Given the description of an element on the screen output the (x, y) to click on. 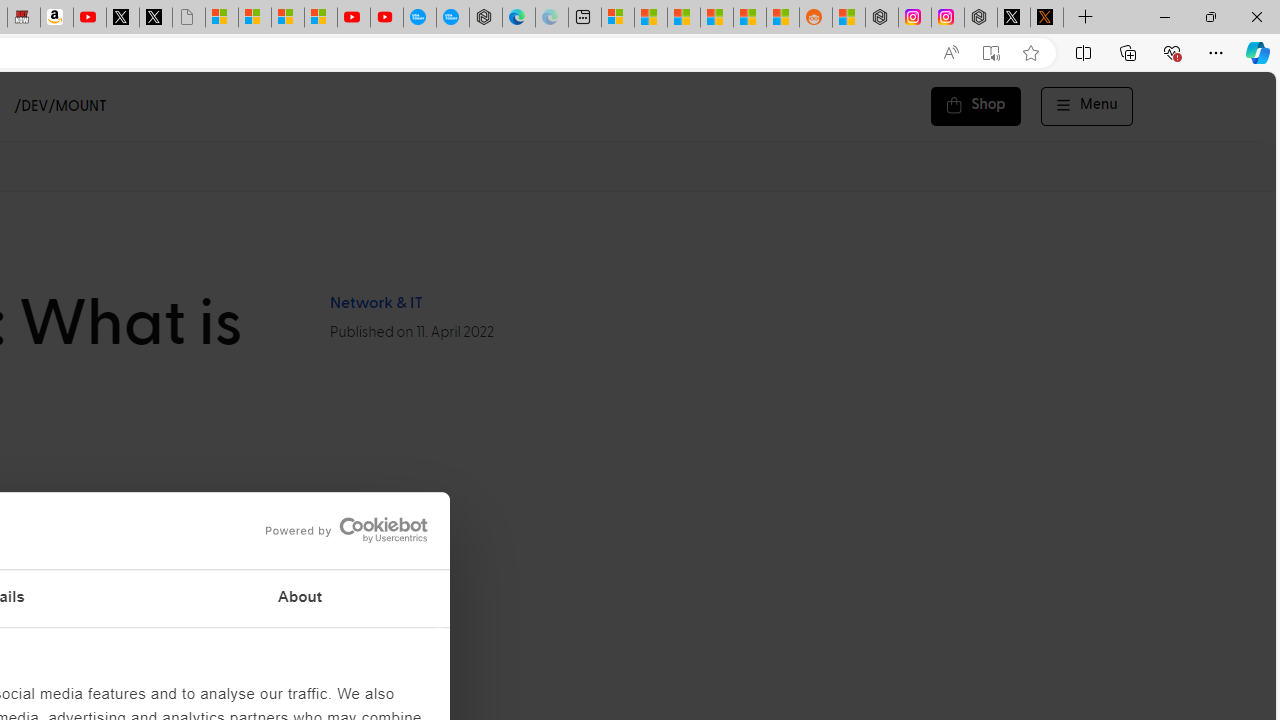
Network & IT (375, 303)
Untitled (188, 17)
Powered by Cookiebot (345, 530)
Menu Off-Canvas (1087, 106)
logo - opens in a new window (339, 530)
Shop (975, 106)
